Given the description of an element on the screen output the (x, y) to click on. 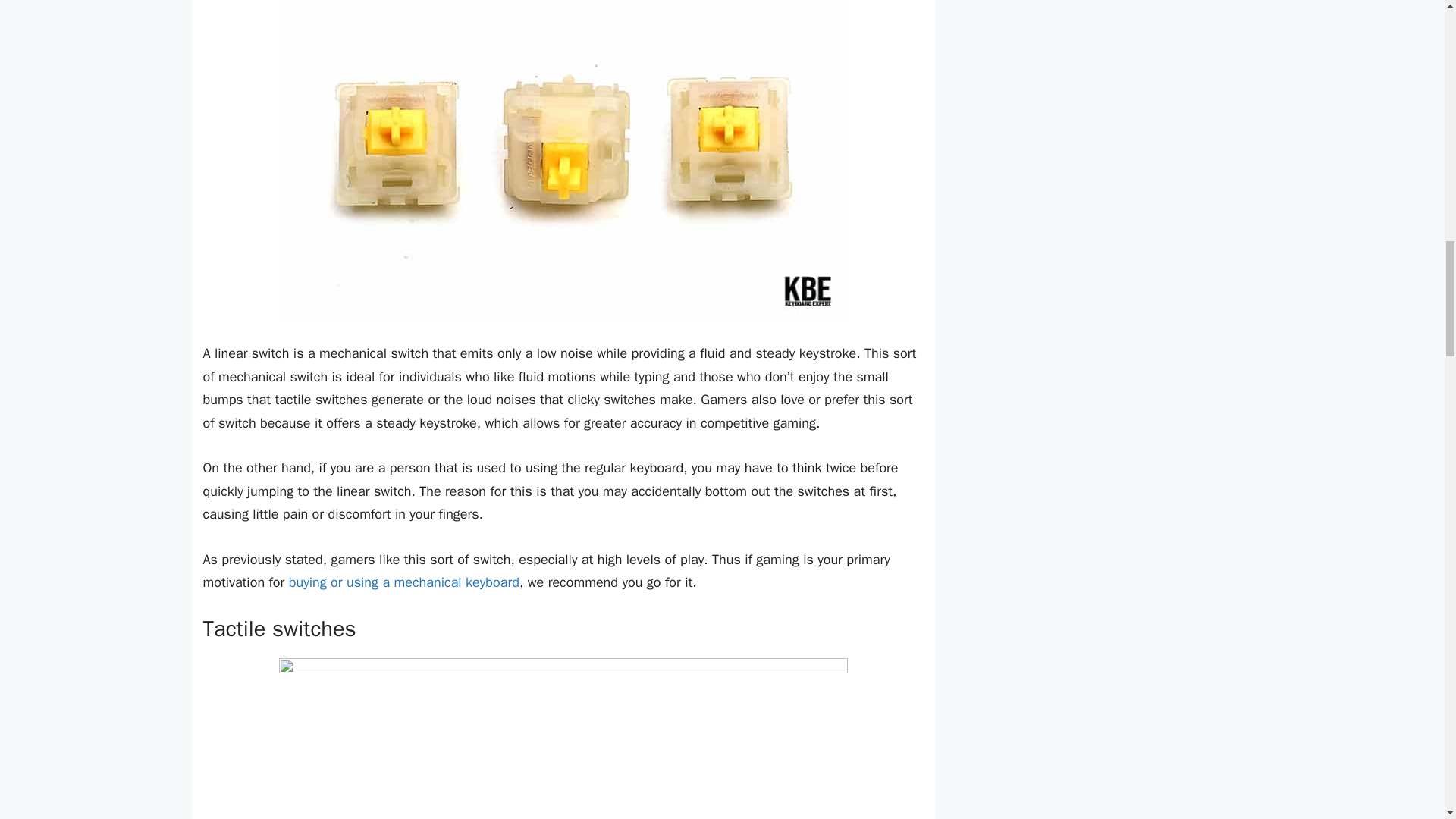
buying or using a mechanical keyboard (403, 582)
